Given the description of an element on the screen output the (x, y) to click on. 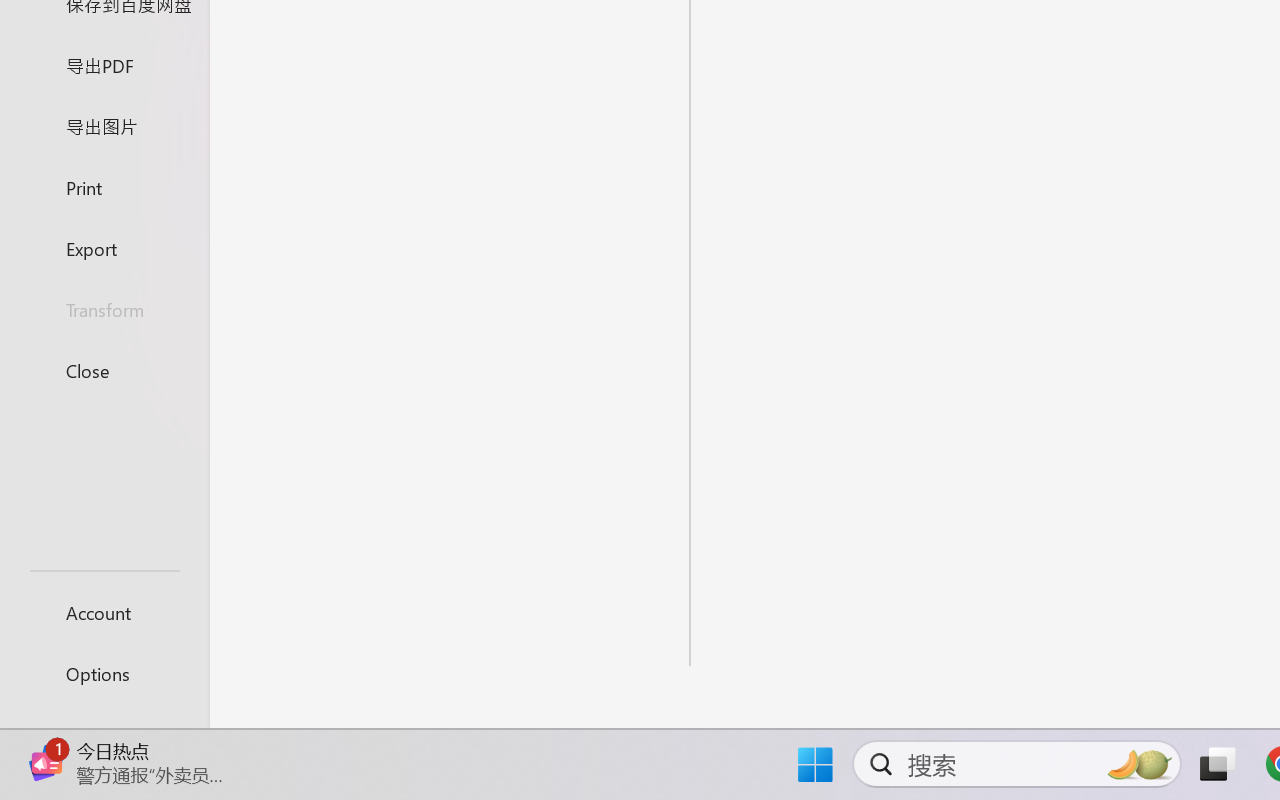
Options (104, 673)
Export (104, 248)
Transform (104, 309)
Account (104, 612)
Print (104, 186)
